Given the description of an element on the screen output the (x, y) to click on. 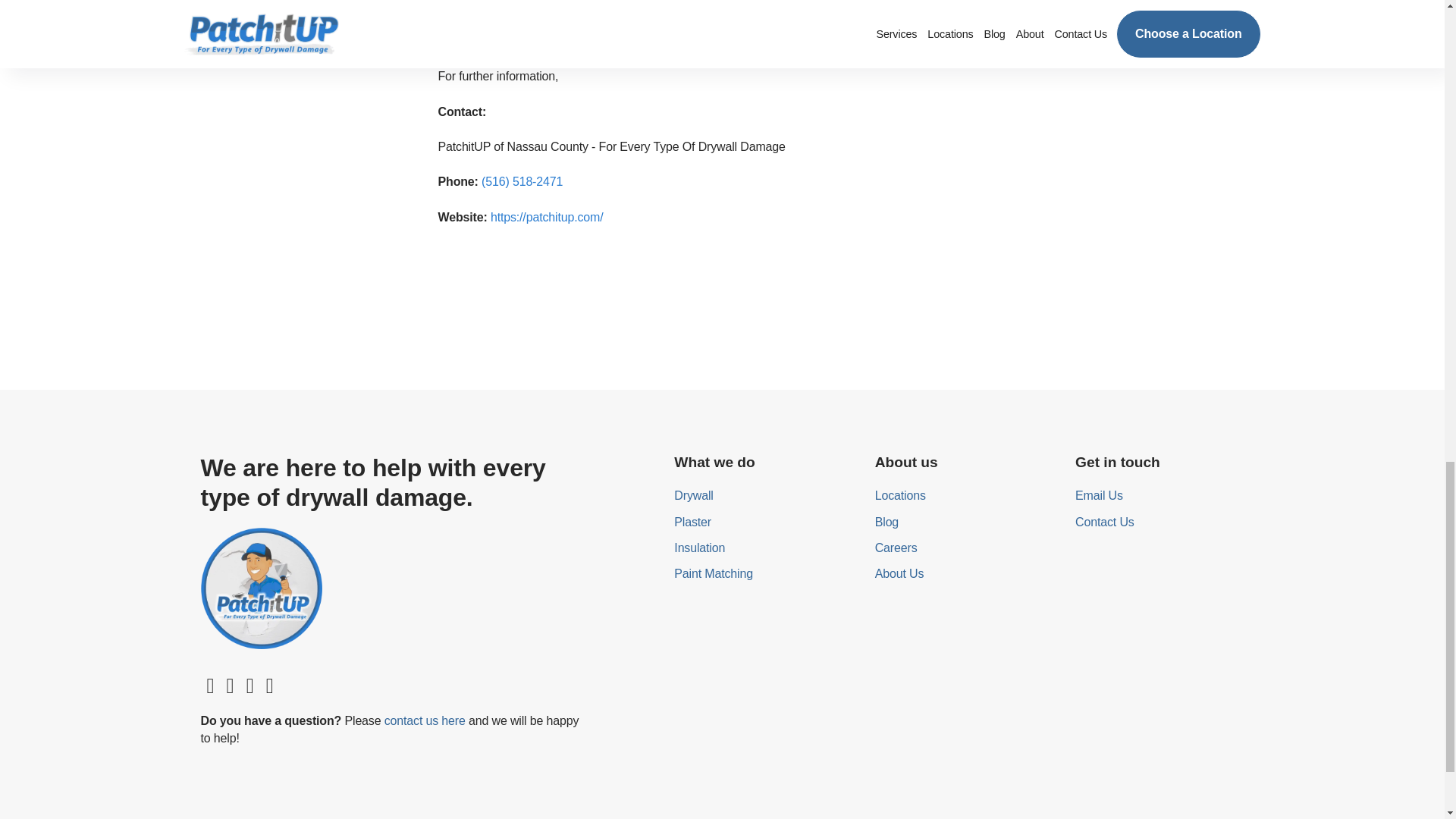
Paint Matching (763, 574)
Blog (964, 522)
Plaster (763, 522)
Email Us (1164, 495)
About Us (964, 574)
Locations (964, 495)
drywall repair services (906, 23)
Careers (964, 548)
Insulation (763, 548)
Drywall (763, 495)
contact us here (424, 721)
Contact Us (1164, 522)
